Given the description of an element on the screen output the (x, y) to click on. 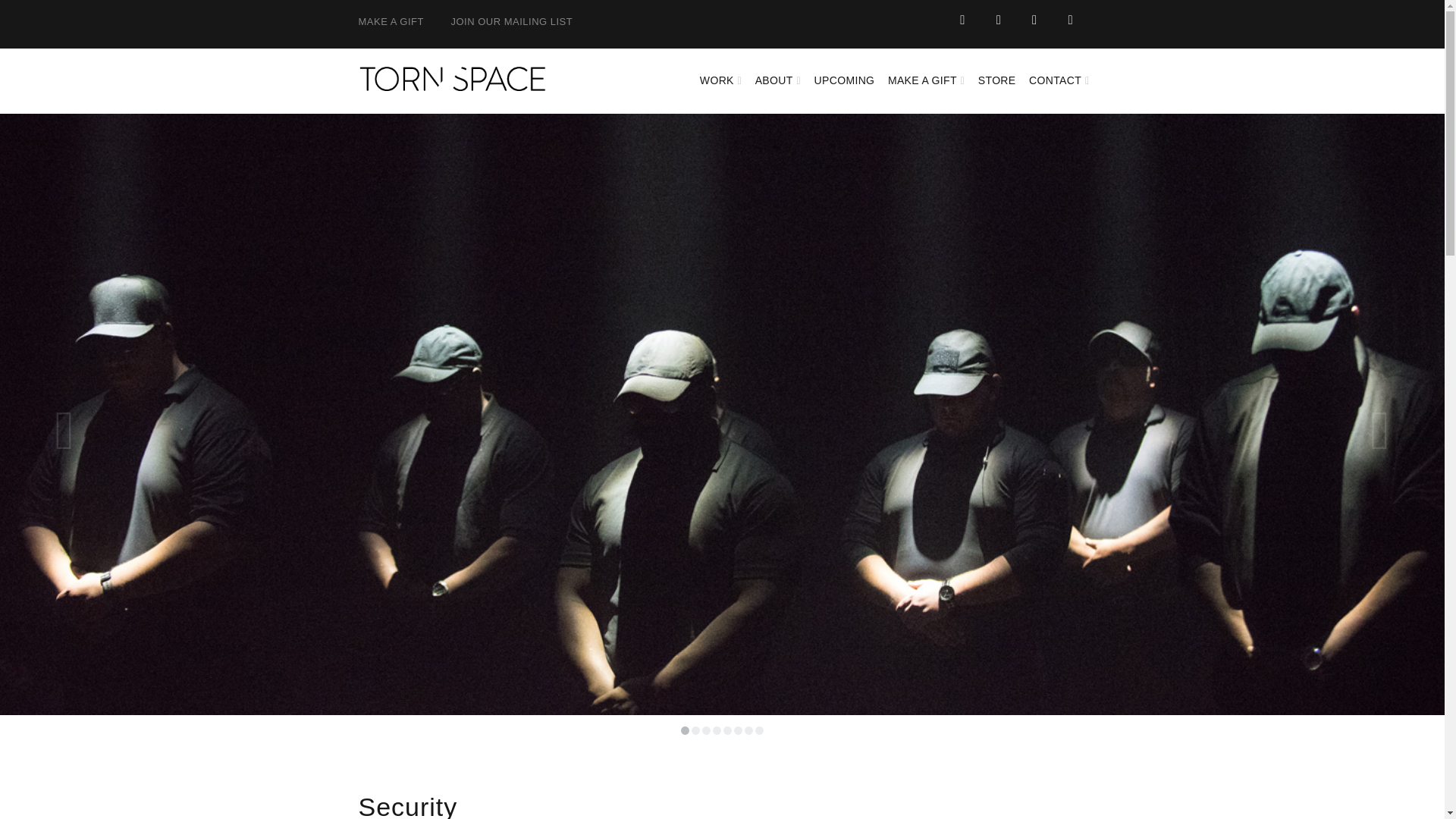
WORK (727, 81)
Our Mission (777, 81)
JOIN OUR MAILING LIST (510, 21)
MAKE A GIFT (390, 21)
MAKE A GIFT (926, 81)
CONTACT (1058, 81)
ABOUT (777, 81)
STORE (996, 81)
UPCOMING (844, 81)
